Given the description of an element on the screen output the (x, y) to click on. 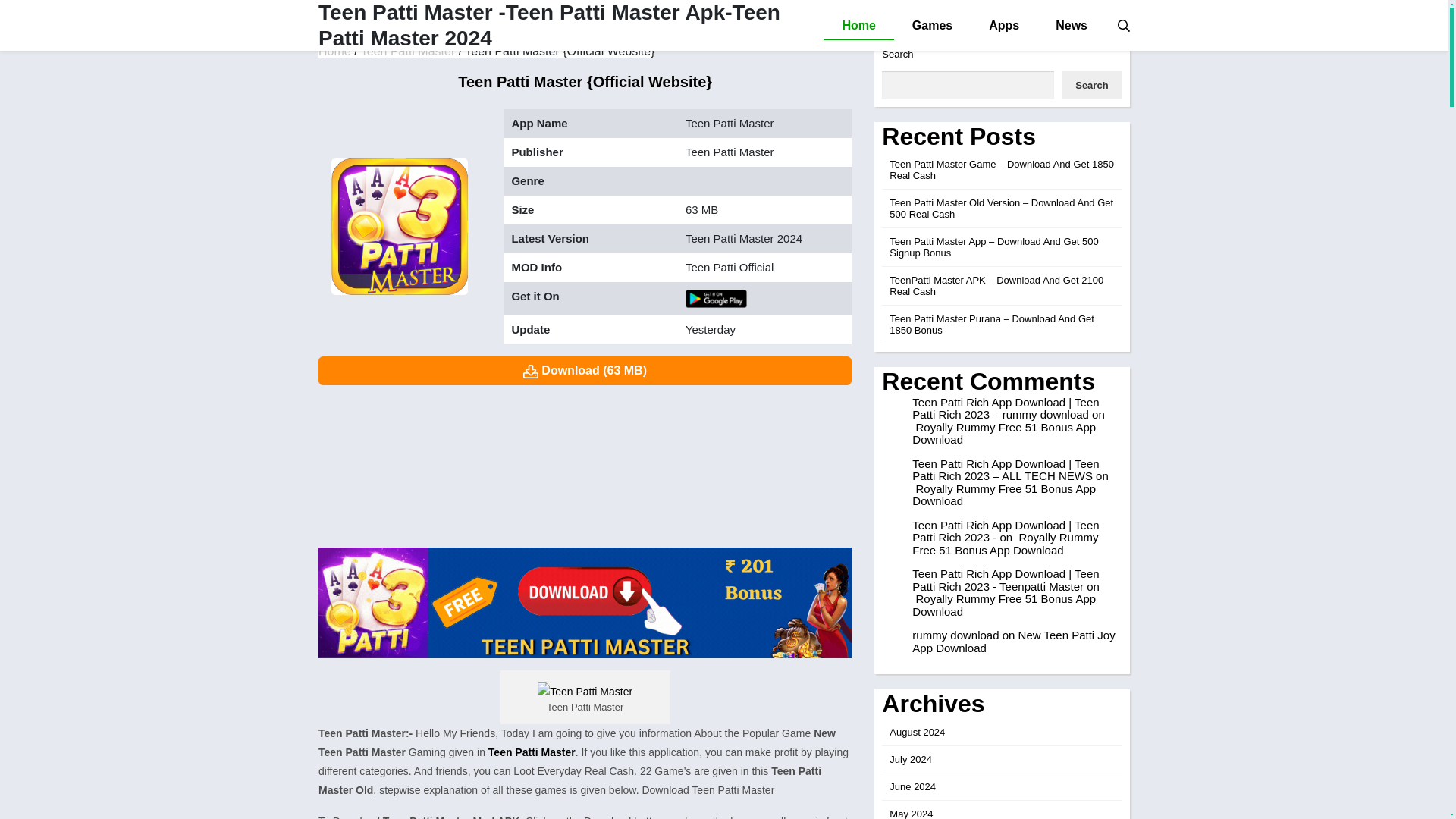
Home (334, 51)
Teen Patti Master (408, 51)
Home (858, 25)
News (1070, 25)
Apps (1003, 25)
Games (932, 25)
Teen Patti Master (529, 752)
